Given the description of an element on the screen output the (x, y) to click on. 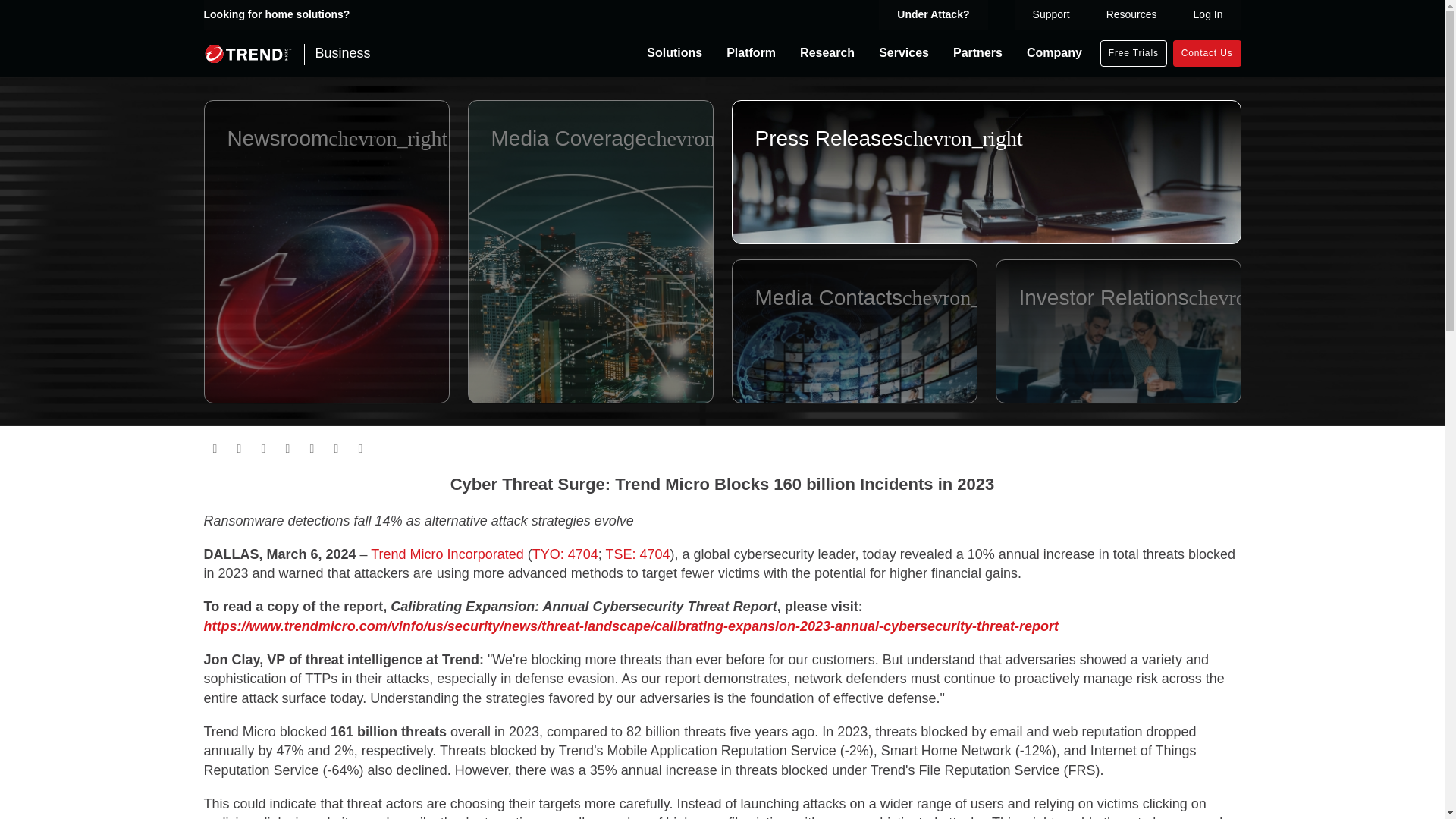
email (311, 448)
rss (335, 448)
Twitter Share (287, 448)
Business (286, 53)
pdf (360, 448)
Linkedin Share (263, 448)
print (214, 448)
Facebook Share (238, 448)
